Given the description of an element on the screen output the (x, y) to click on. 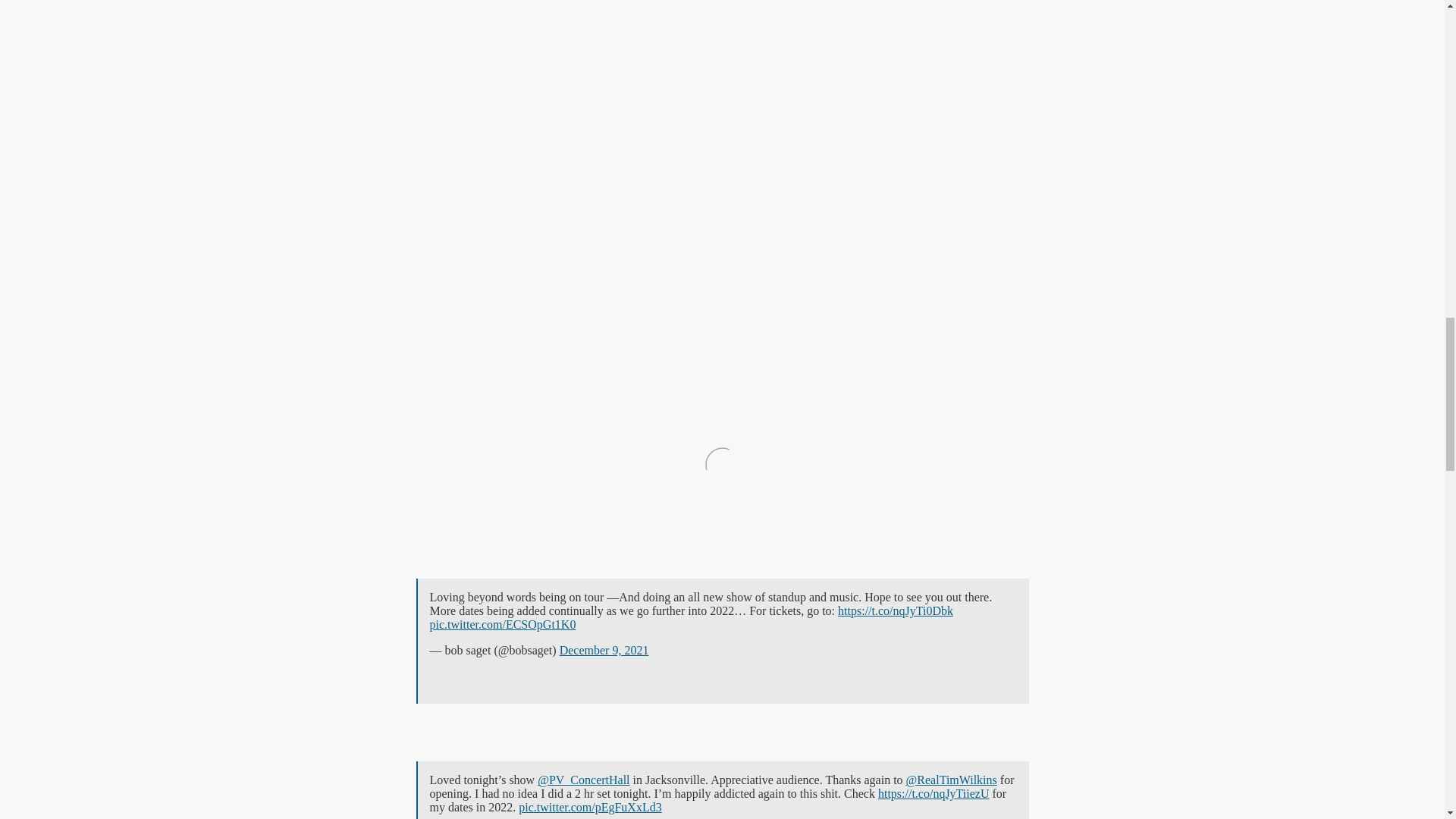
Twitter (720, 787)
December 9, 2021 (604, 649)
Twitter (720, 646)
